Given the description of an element on the screen output the (x, y) to click on. 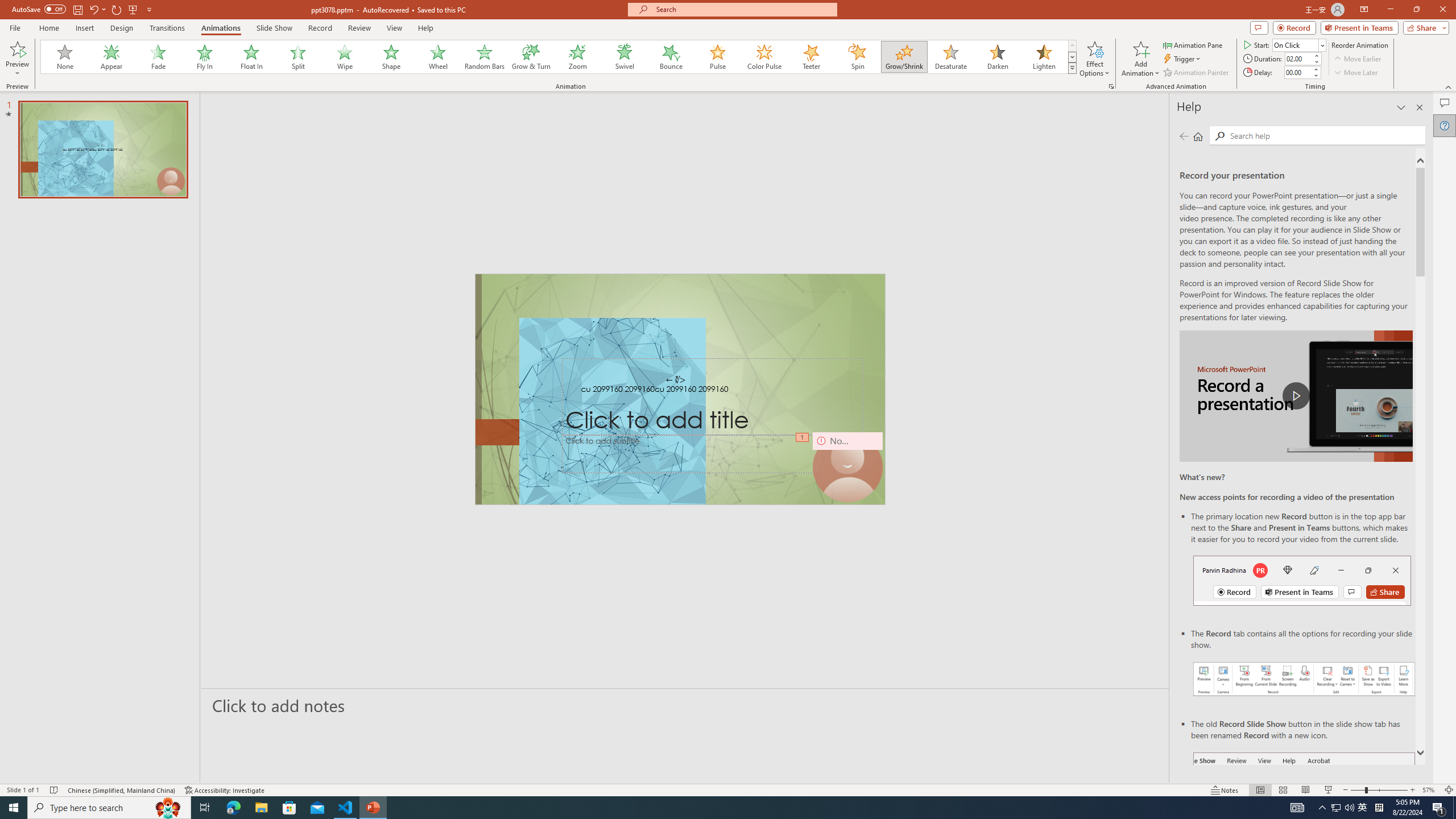
Zoom 57% (1430, 790)
TextBox 7 (675, 380)
Animation, sequence 1, on Camera 9 (802, 437)
TextBox 61 (679, 390)
More Options... (1110, 85)
Spin (857, 56)
Lighten (1043, 56)
